Given the description of an element on the screen output the (x, y) to click on. 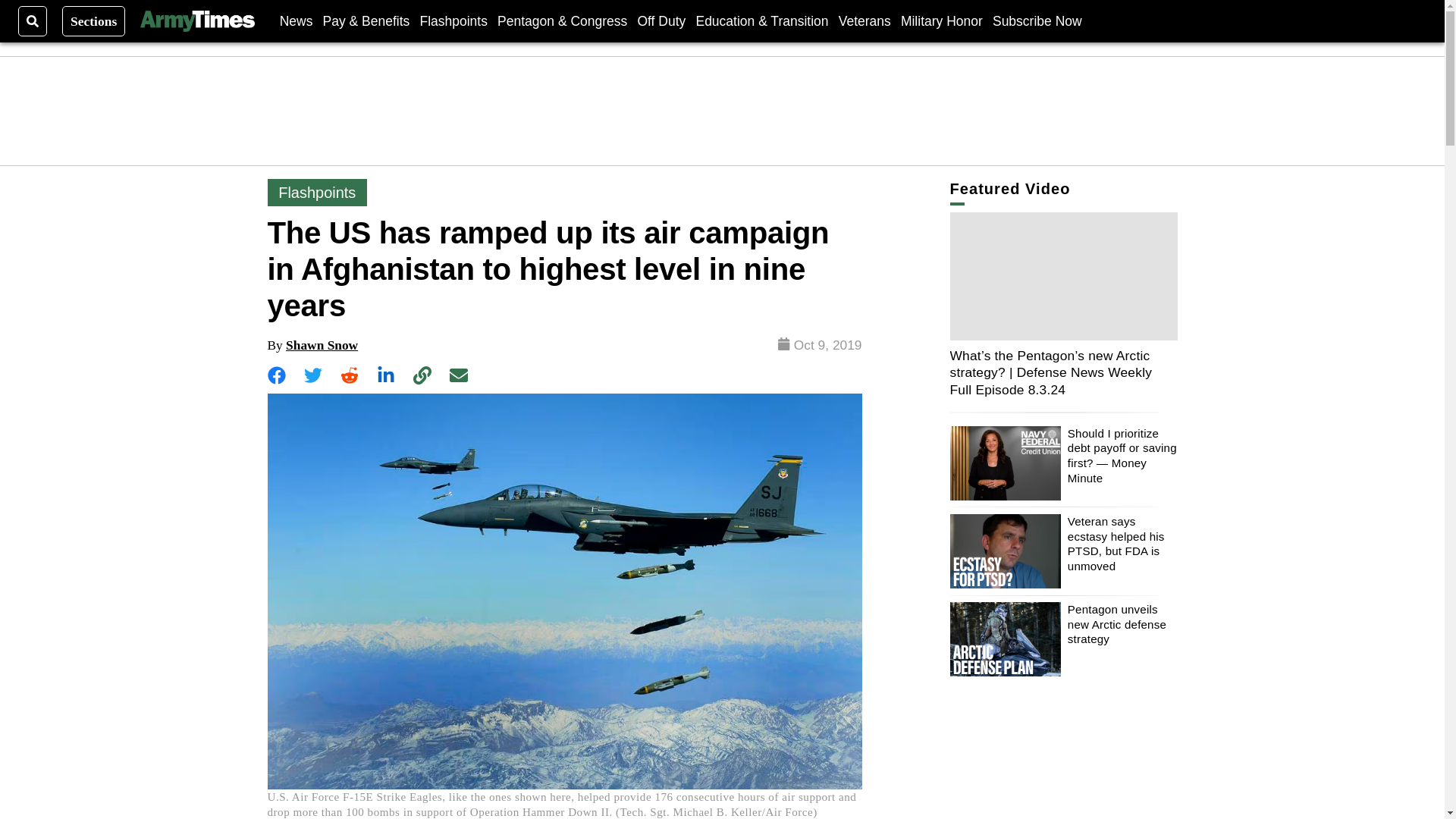
Flashpoints (453, 20)
Army Times Logo (196, 20)
Off Duty (661, 20)
Sections (93, 20)
News (296, 20)
Veterans (864, 20)
Military Honor (941, 20)
